Given the description of an element on the screen output the (x, y) to click on. 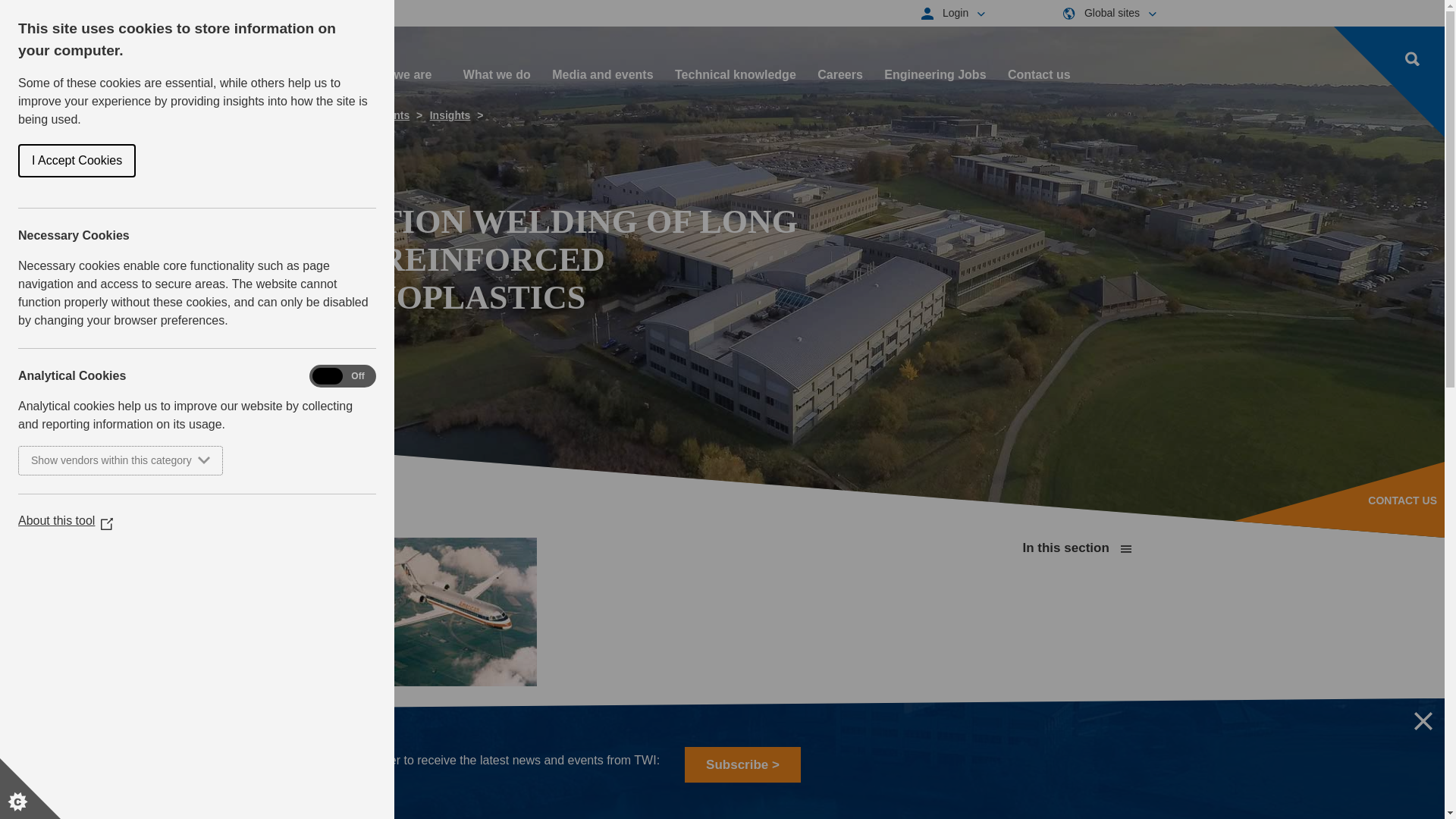
Show vendors within this category (80, 460)
